Given the description of an element on the screen output the (x, y) to click on. 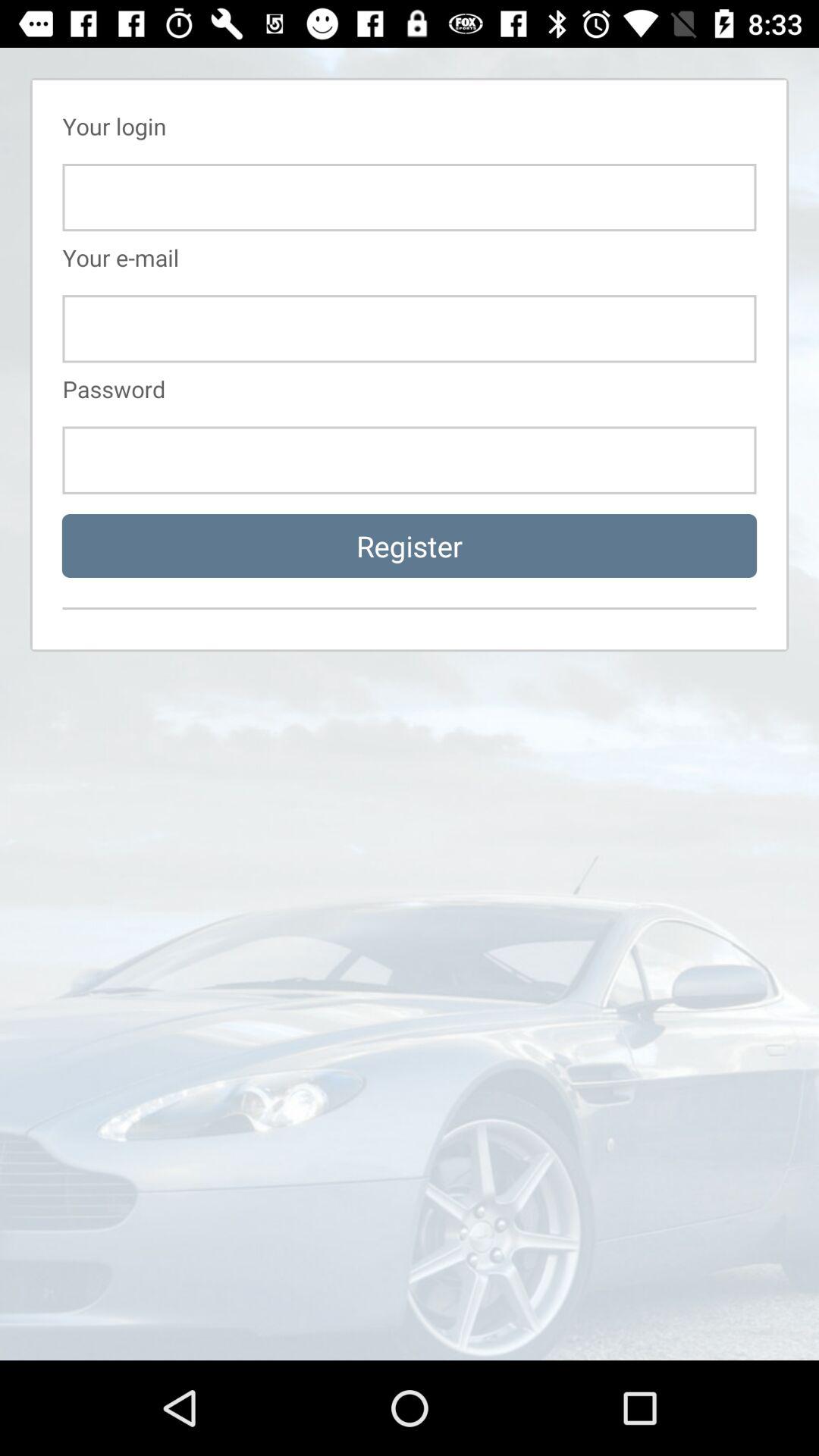
text field to enter login (409, 197)
